Given the description of an element on the screen output the (x, y) to click on. 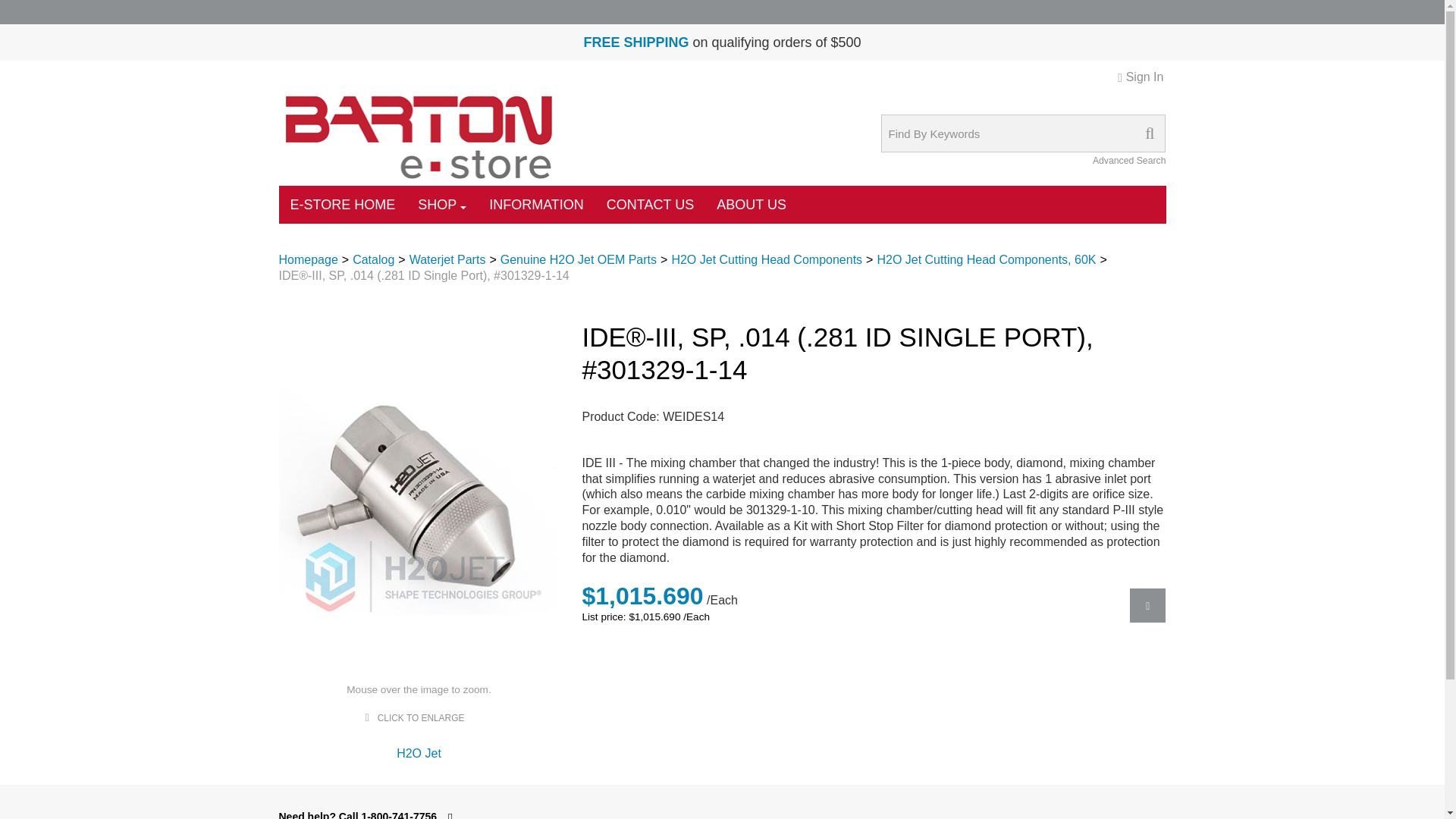
Homepage (308, 259)
Advanced Search (1129, 160)
ABOUT US (750, 204)
Information (635, 42)
Waterjet Parts (447, 259)
H2O Jet Cutting Head Components, 60K (986, 259)
SHOP (441, 204)
Barton (419, 136)
Tell a Friend (1147, 605)
Genuine H2O Jet OEM Parts (578, 259)
Sign In (1139, 77)
Catalog (373, 259)
INFORMATION (536, 204)
H2O Jet (418, 753)
E-STORE HOME (343, 204)
